Given the description of an element on the screen output the (x, y) to click on. 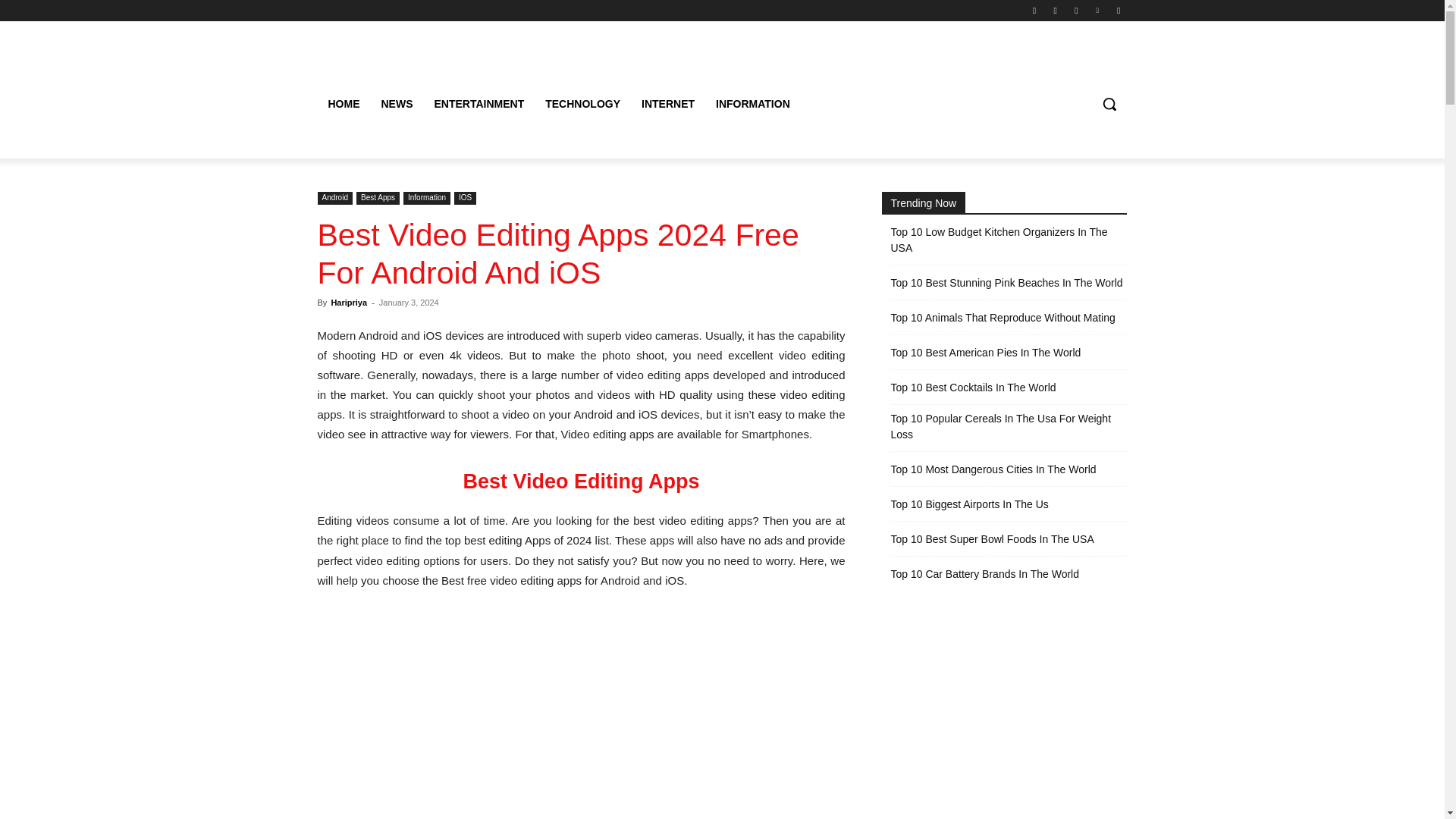
Best Apps (377, 197)
Information (426, 197)
Twitter (1075, 9)
Haripriya (348, 302)
HOME (343, 103)
IOS (465, 197)
Instagram (1055, 9)
NEWS (396, 103)
INFORMATION (752, 103)
Vimeo (1097, 9)
